Given the description of an element on the screen output the (x, y) to click on. 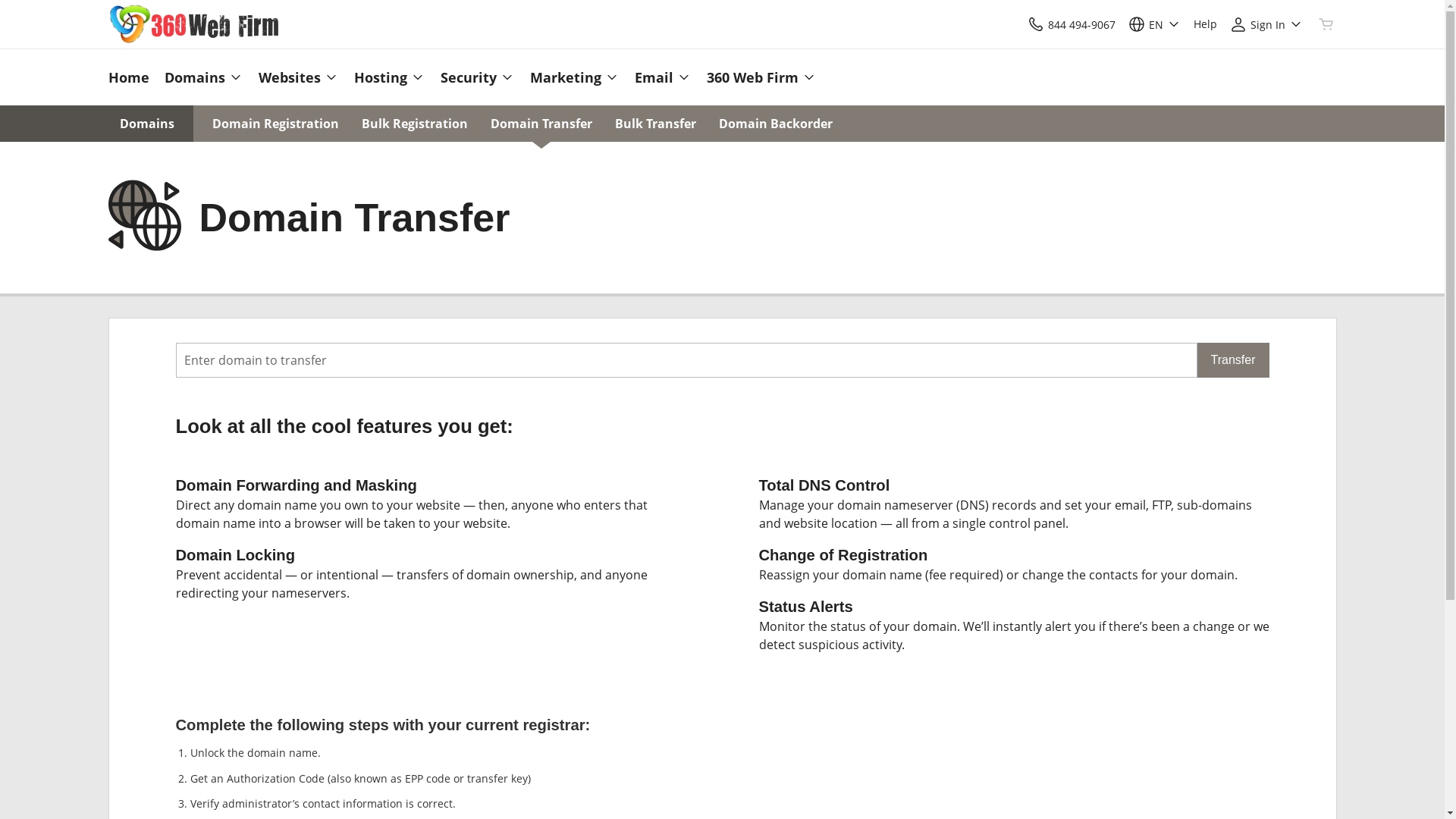
Bulk Registration Element type: text (413, 123)
Email Element type: text (662, 77)
Help Element type: text (1205, 24)
Home Element type: text (131, 77)
Hosting Element type: text (388, 77)
Domain Backorder Element type: text (775, 123)
360 Web Firm Element type: text (757, 77)
Transfer Element type: text (1233, 359)
844 494-9067 Element type: text (1070, 24)
EN Element type: text (1153, 24)
Bulk Transfer Element type: text (654, 123)
Contact Us Element type: hover (1035, 24)
Domain Transfer Element type: text (540, 123)
Marketing Element type: text (573, 77)
Security Element type: text (476, 77)
Sign In Element type: text (1265, 24)
Domain Registration Element type: text (275, 123)
Websites Element type: text (297, 77)
Domains Element type: text (203, 77)
